Given the description of an element on the screen output the (x, y) to click on. 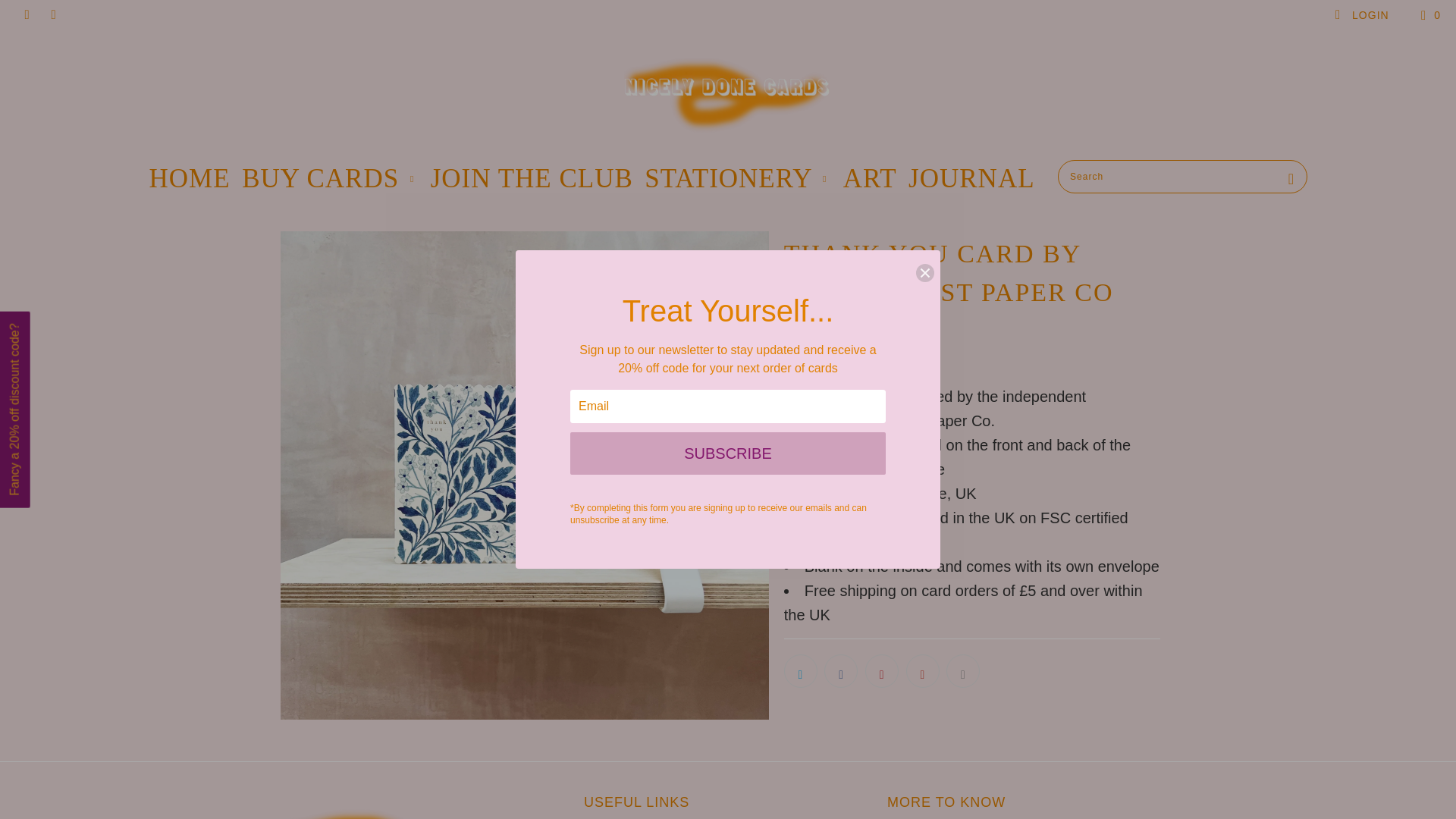
Nicely Done Cards on Instagram (25, 15)
Share this on Twitter (800, 670)
Email this to a friend (962, 670)
Email Nicely Done Cards (53, 15)
Share this on Pinterest (881, 670)
My Account  (1361, 15)
Share this on Facebook (840, 670)
